Given the description of an element on the screen output the (x, y) to click on. 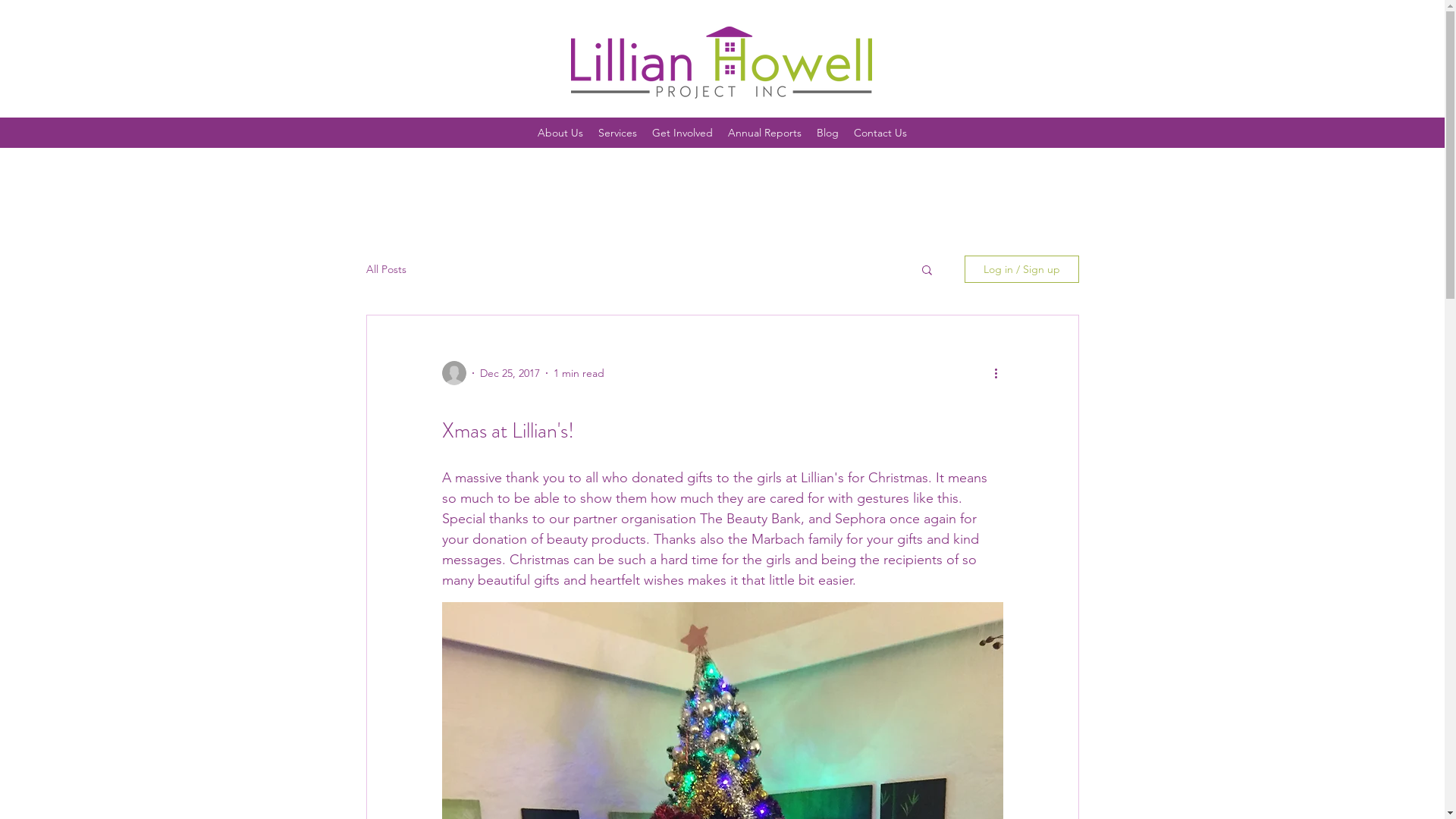
Services Element type: text (617, 132)
About Us Element type: text (560, 132)
Log in / Sign up Element type: text (1021, 268)
Get Involved Element type: text (682, 132)
Annual Reports Element type: text (764, 132)
All Posts Element type: text (385, 269)
Blog Element type: text (827, 132)
Contact Us Element type: text (880, 132)
